Given the description of an element on the screen output the (x, y) to click on. 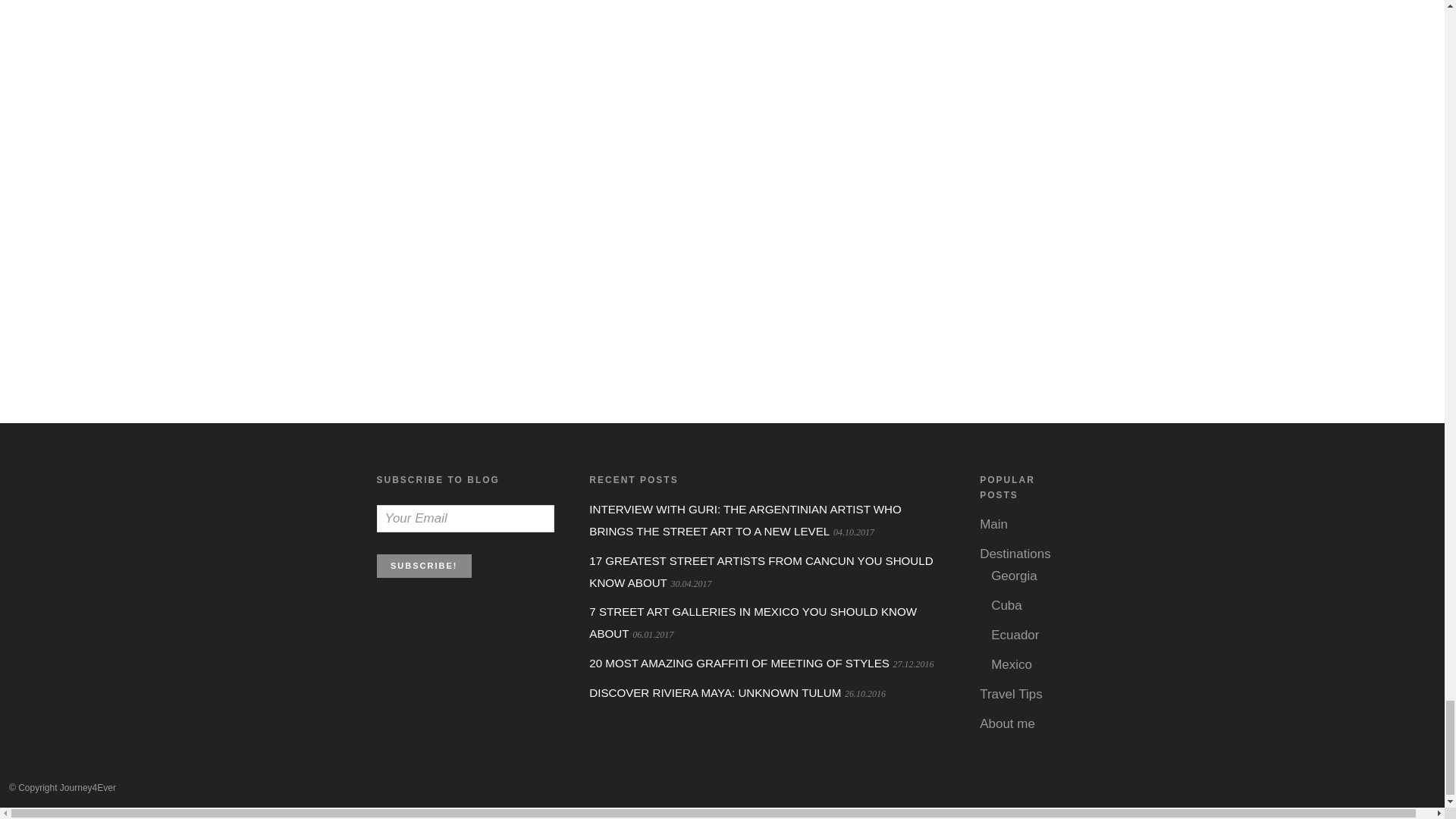
Your Email (464, 518)
Subscribe! (422, 566)
17 GREATEST STREET ARTISTS FROM CANCUN YOU SHOULD KNOW ABOUT (761, 571)
7 STREET ART GALLERIES IN MEXICO YOU SHOULD KNOW ABOUT (753, 622)
Subscribe! (422, 566)
20 MOST AMAZING GRAFFITI OF MEETING OF STYLES (739, 662)
DISCOVER RIVIERA MAYA: UNKNOWN TULUM (715, 692)
